Given the description of an element on the screen output the (x, y) to click on. 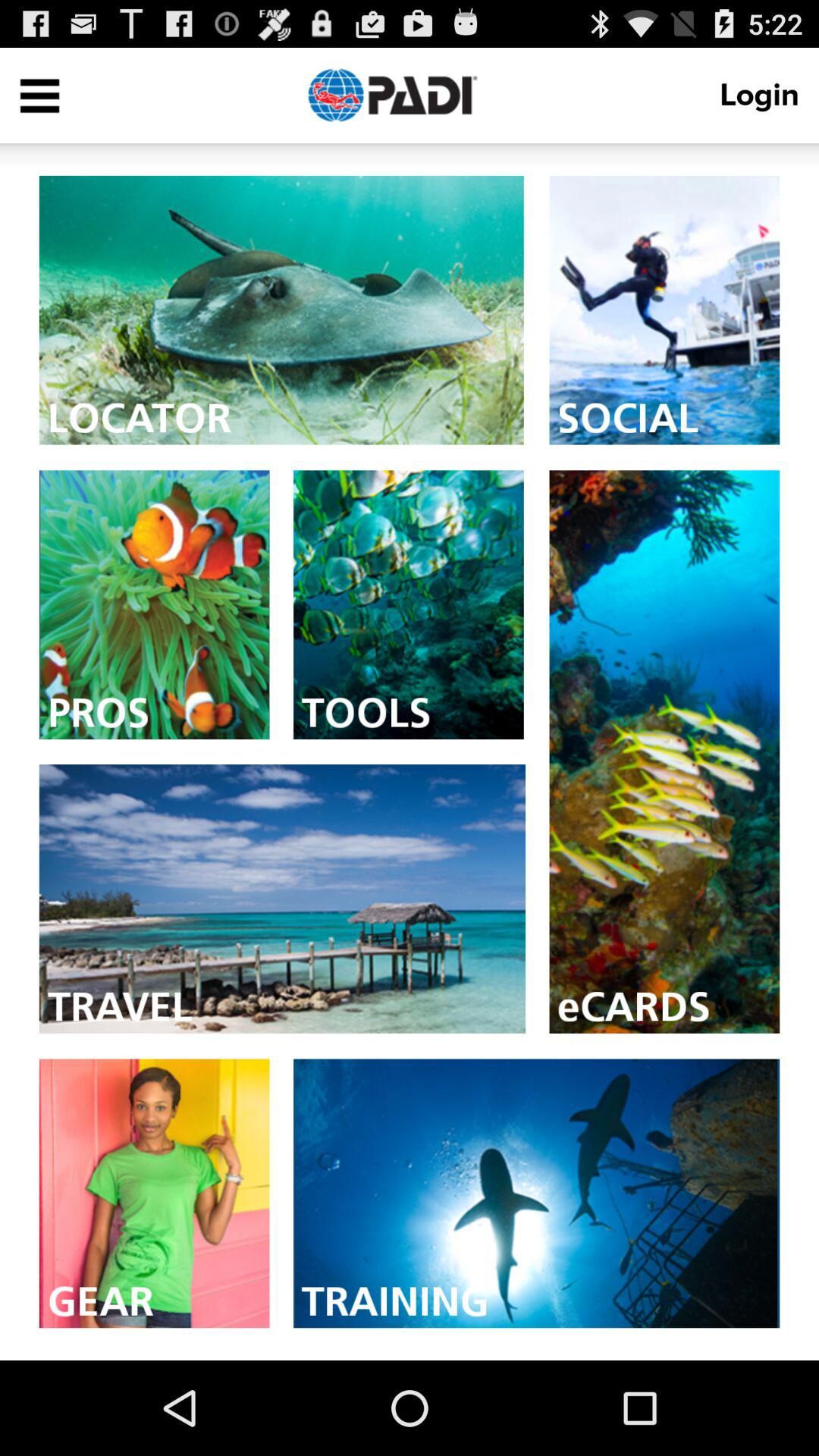
access pros site (154, 604)
